Given the description of an element on the screen output the (x, y) to click on. 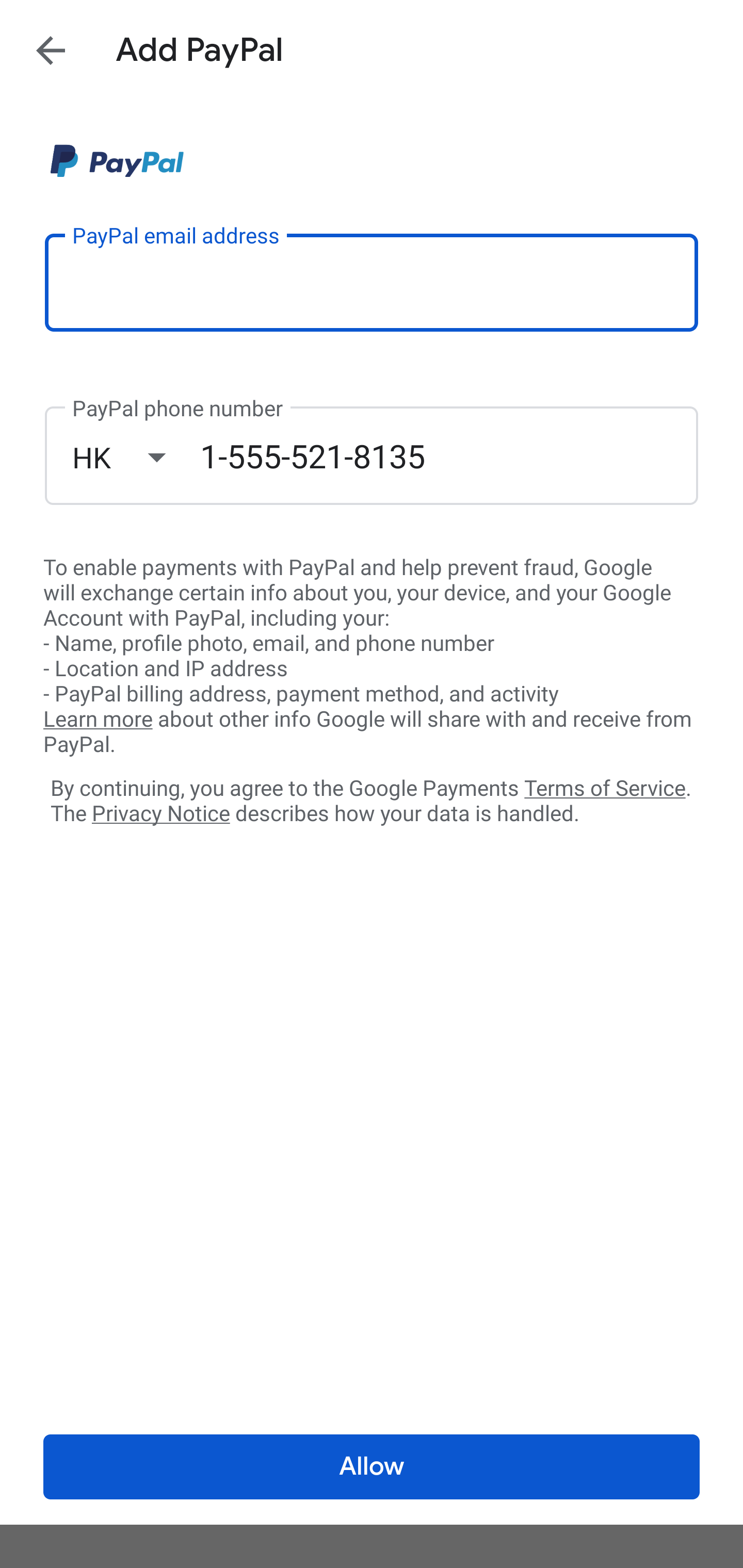
Navigate up (50, 50)
PayPal email address (371, 282)
HK (135, 456)
Learn more (97, 719)
Terms of Service (604, 787)
Privacy Notice (160, 814)
Allow (371, 1466)
